Given the description of an element on the screen output the (x, y) to click on. 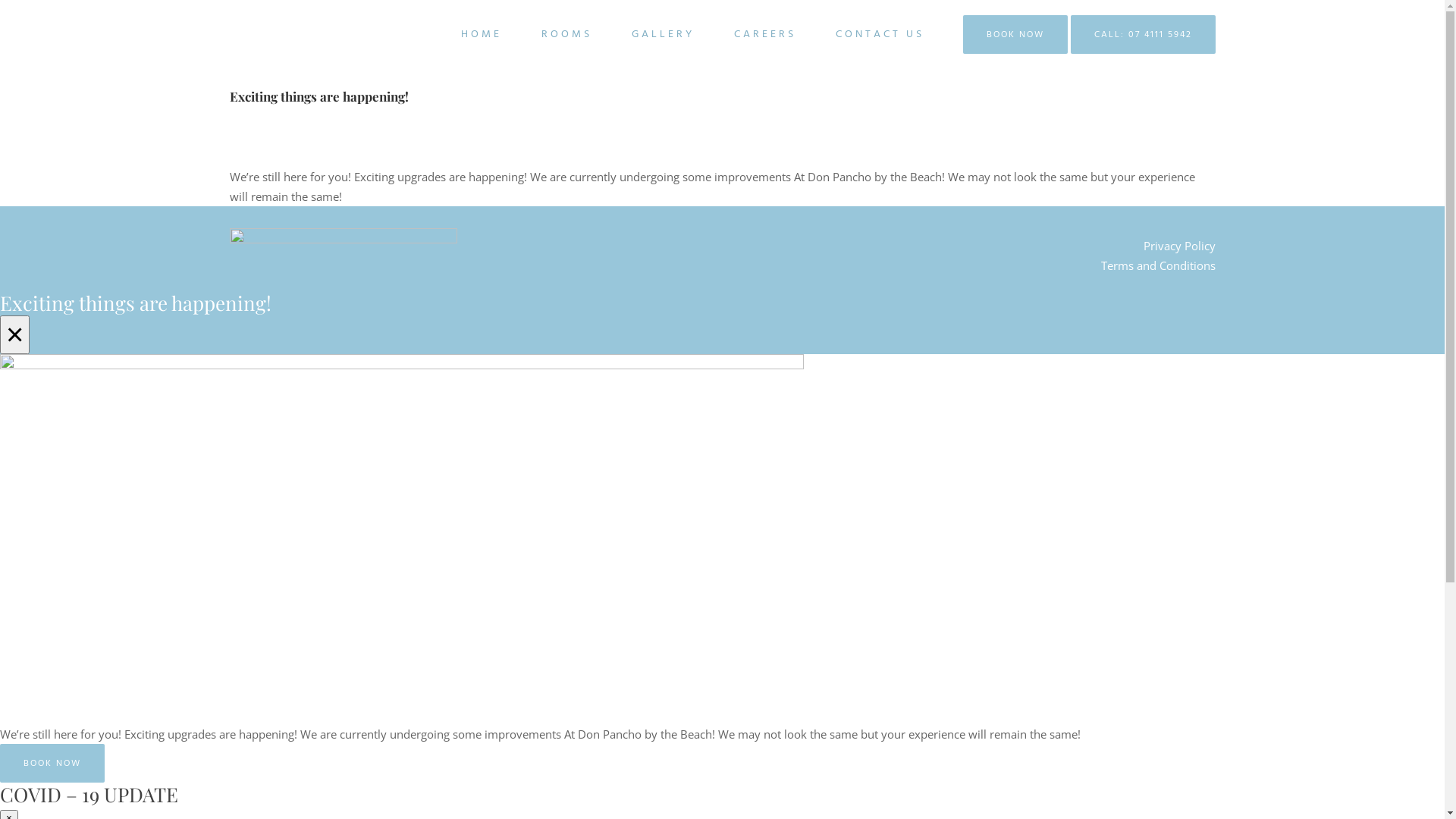
BOOK NOW Element type: text (52, 762)
CALL: 07 4111 5942 Element type: text (1142, 34)
CONTACT US Element type: text (879, 34)
ROOMS Element type: text (566, 34)
GALLERY Element type: text (662, 34)
BOOK NOW Element type: text (1015, 34)
HOME Element type: text (481, 34)
Privacy Policy Element type: text (1179, 245)
Terms and Conditions Element type: text (1158, 265)
CAREERS Element type: text (764, 34)
